Given the description of an element on the screen output the (x, y) to click on. 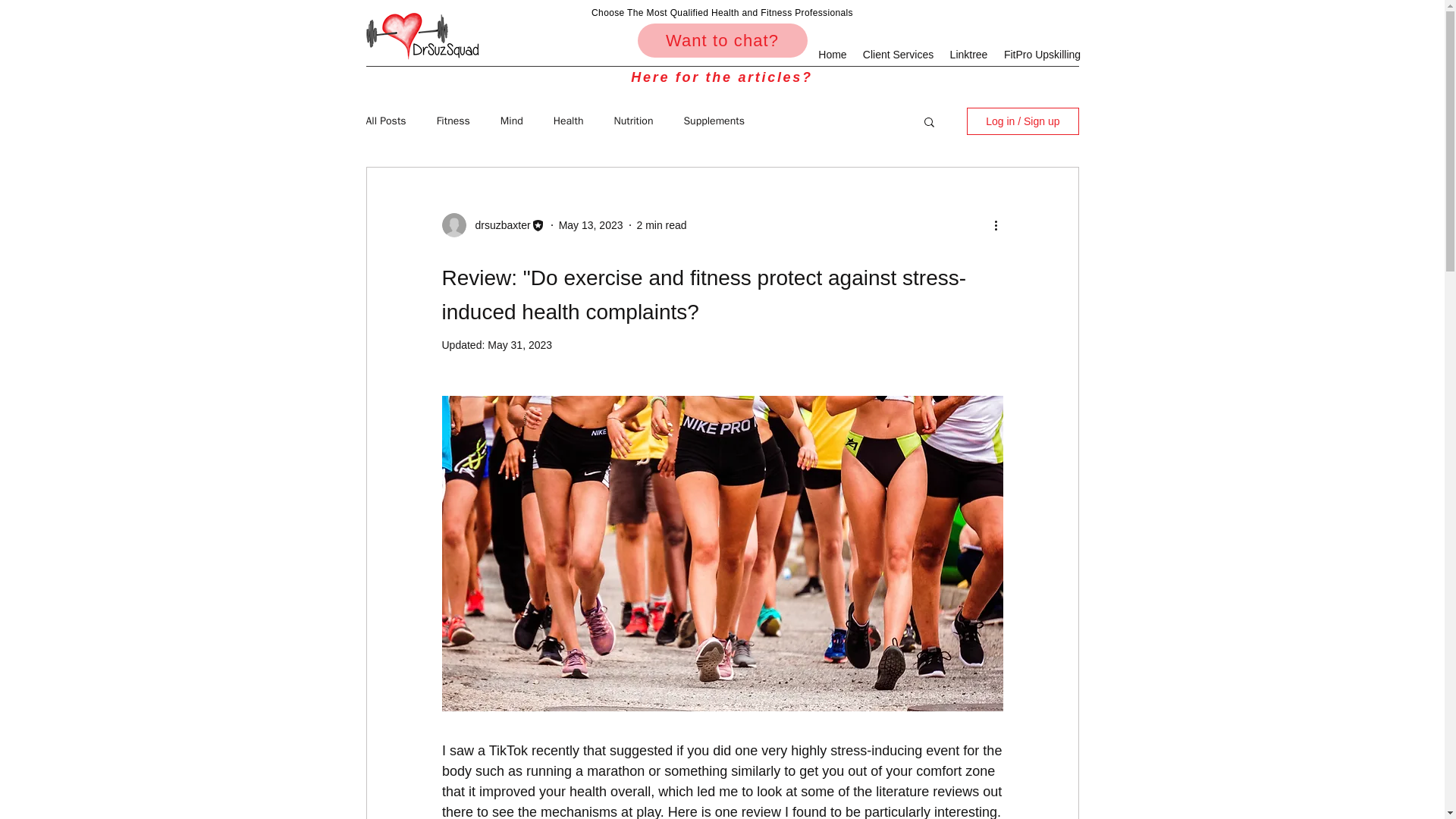
Health (568, 120)
Nutrition (632, 120)
Linktree (968, 54)
drsuzbaxter (497, 225)
Supplements (713, 120)
May 13, 2023 (591, 224)
Want to chat? (721, 40)
Mind (511, 120)
2 min read (662, 224)
Fitness (453, 120)
FitPro Upskilling (1042, 54)
All Posts (385, 120)
Client Services (898, 54)
May 31, 2023 (519, 345)
Here for the articles? (721, 77)
